Given the description of an element on the screen output the (x, y) to click on. 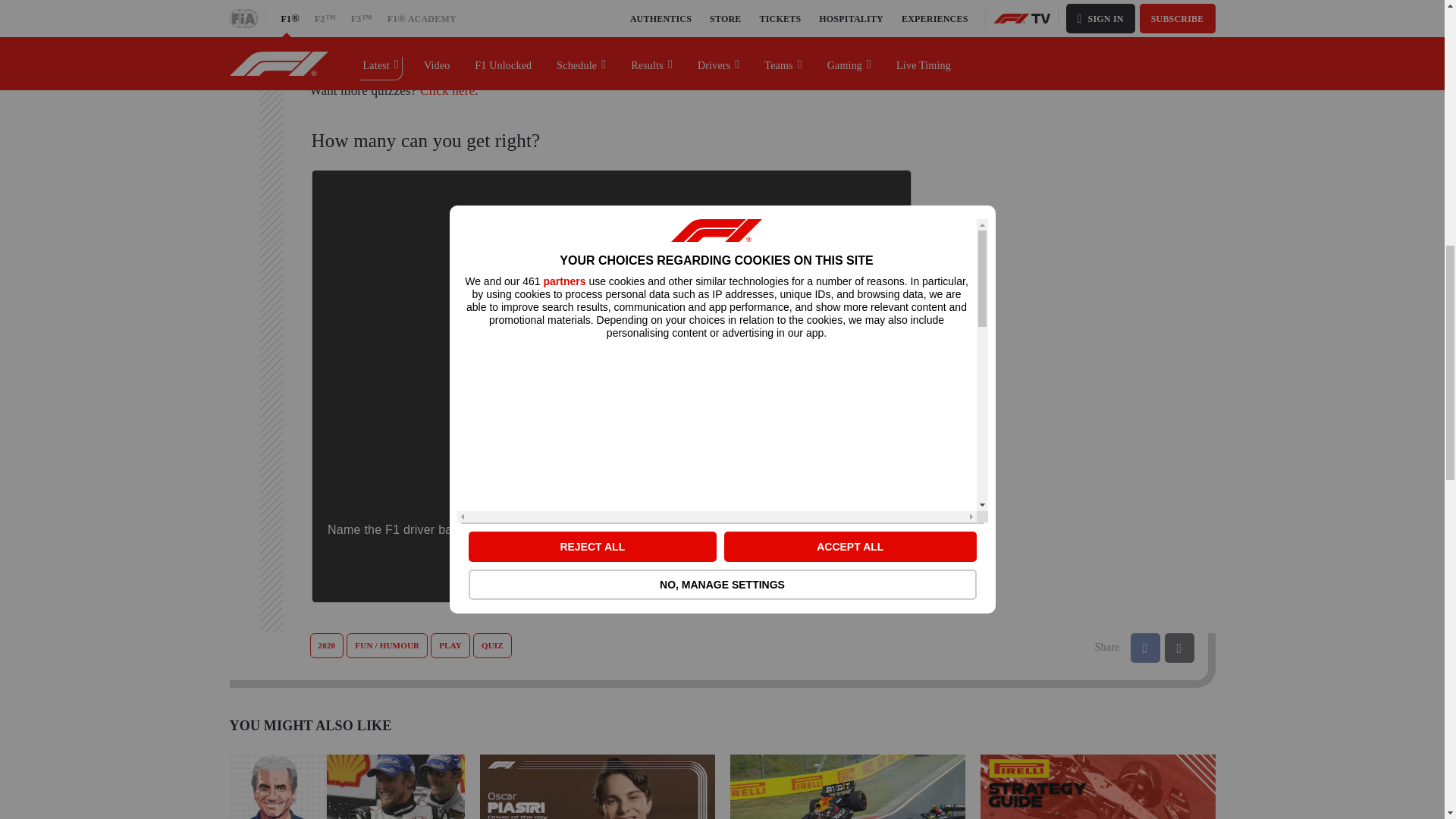
Click here (447, 90)
